Given the description of an element on the screen output the (x, y) to click on. 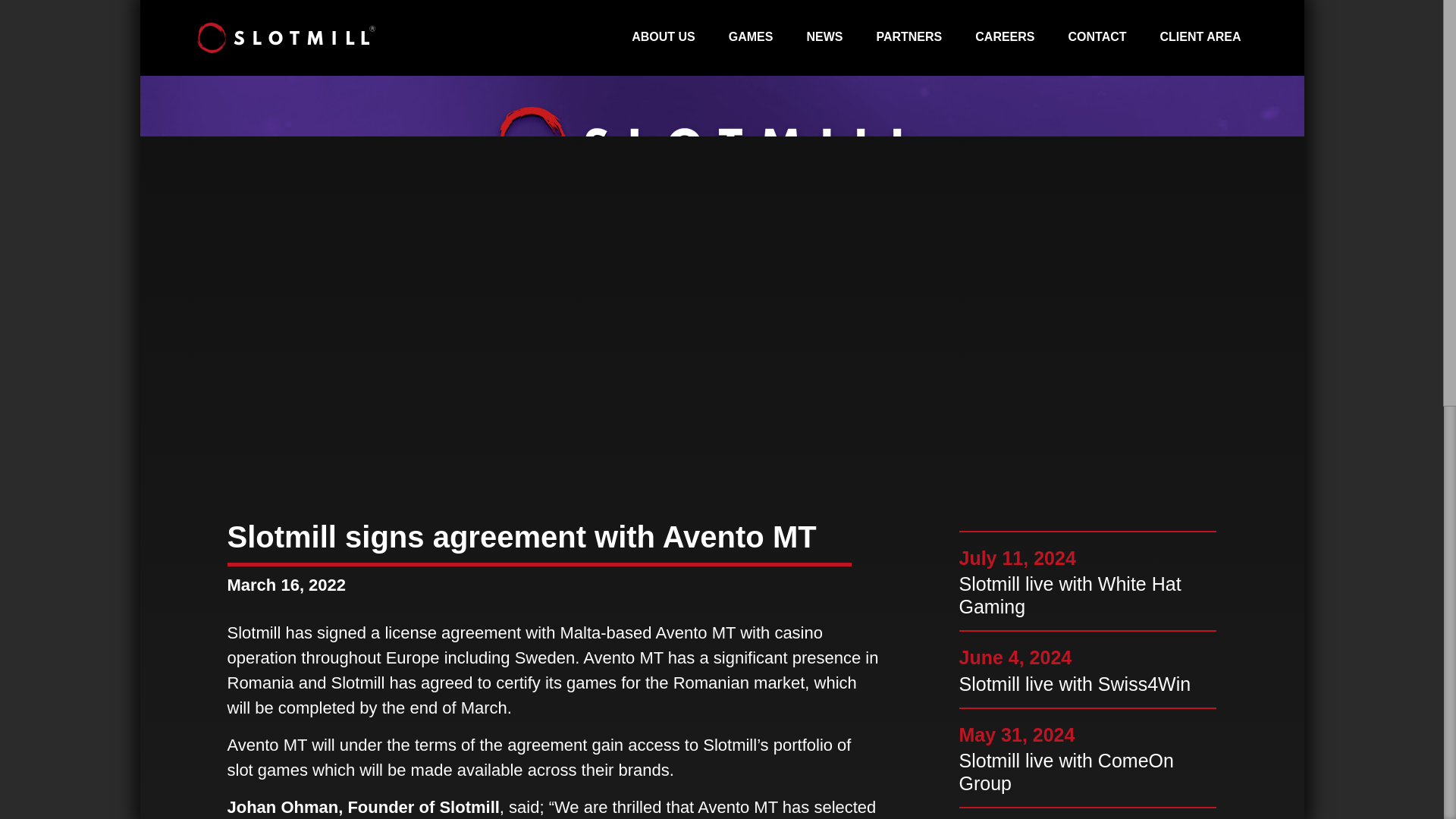
CLIENT AREA (1200, 38)
Slotmill live with Swiss4Win (1086, 683)
NEWS (823, 38)
PARTNERS (908, 38)
ABOUT US (663, 38)
CONTACT (1096, 38)
CAREERS (1005, 38)
Slotmill live with White Hat Gaming (1086, 595)
GAMES (750, 38)
Slotmill live with ComeOn Group (1086, 771)
